Given the description of an element on the screen output the (x, y) to click on. 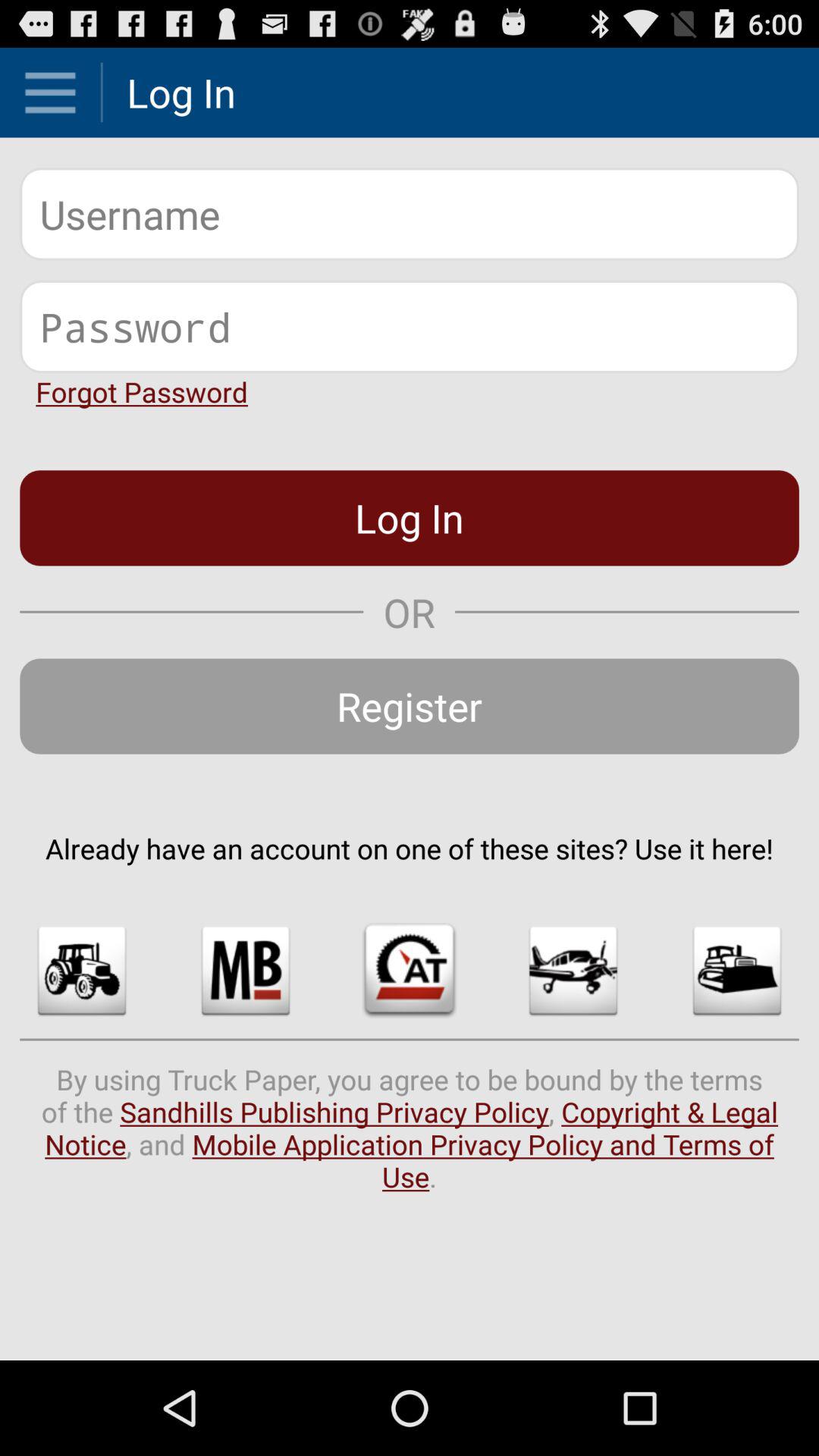
enter the namebox (409, 213)
